Given the description of an element on the screen output the (x, y) to click on. 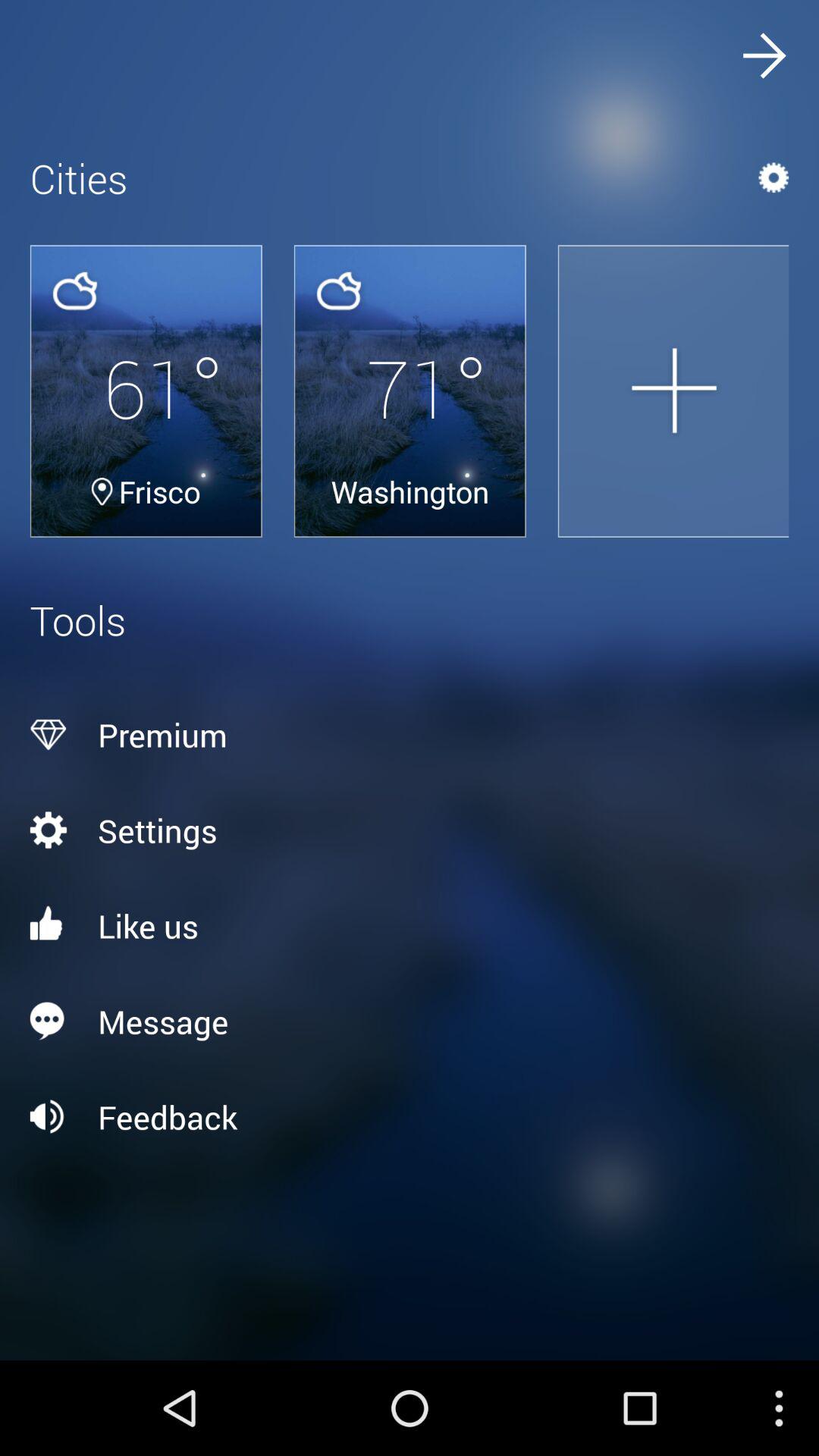
select the text above feedback (409, 1021)
click on the premium above settings (409, 735)
select the cloud icon above the text 71 degrees on the web page (338, 290)
